Given the description of an element on the screen output the (x, y) to click on. 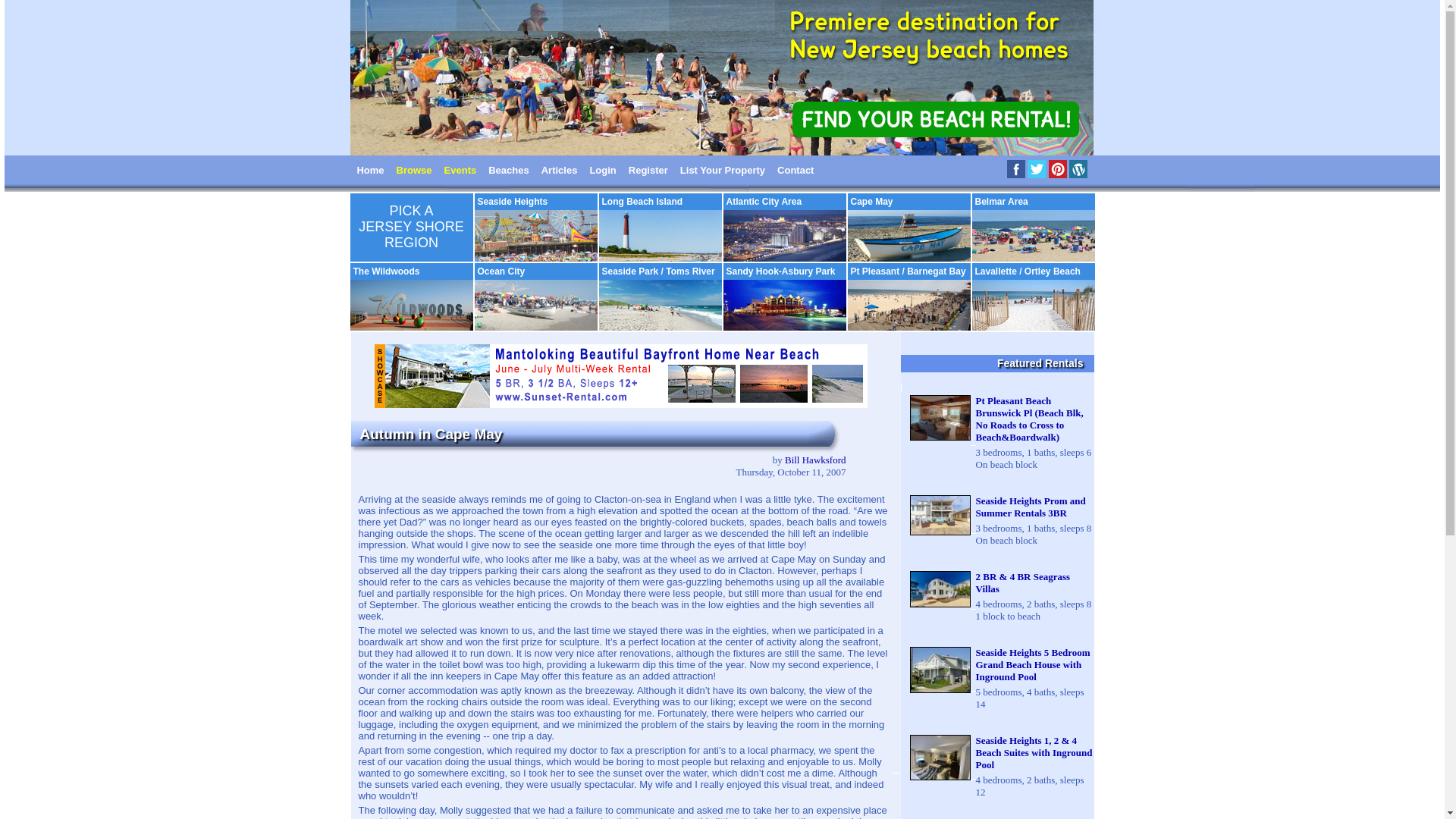
Home (370, 169)
Events (460, 169)
Beaches (507, 169)
Browse (414, 169)
Articles (559, 169)
